Given the description of an element on the screen output the (x, y) to click on. 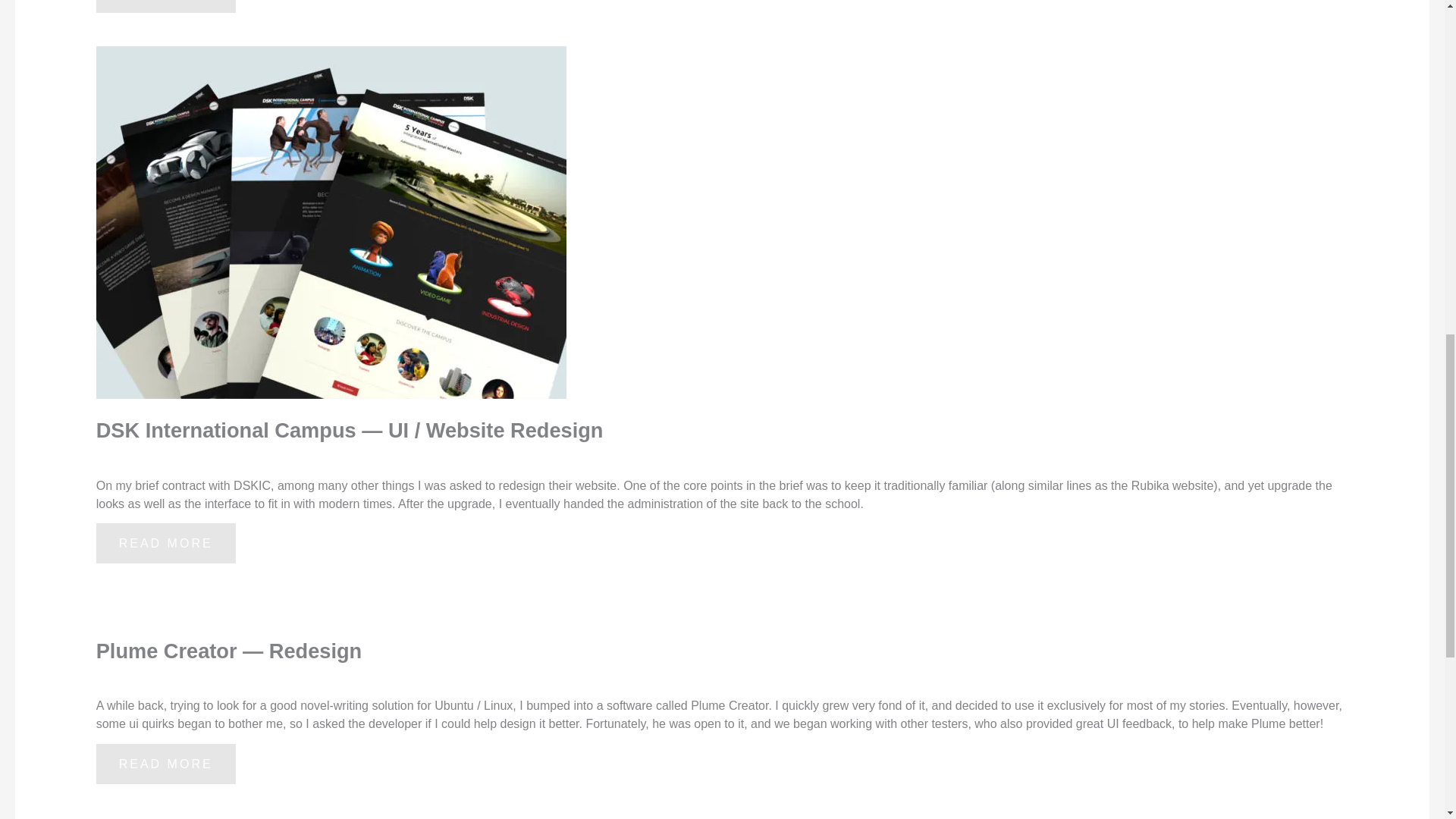
READ MORE (165, 6)
READ MORE (165, 543)
READ MORE (165, 763)
